Given the description of an element on the screen output the (x, y) to click on. 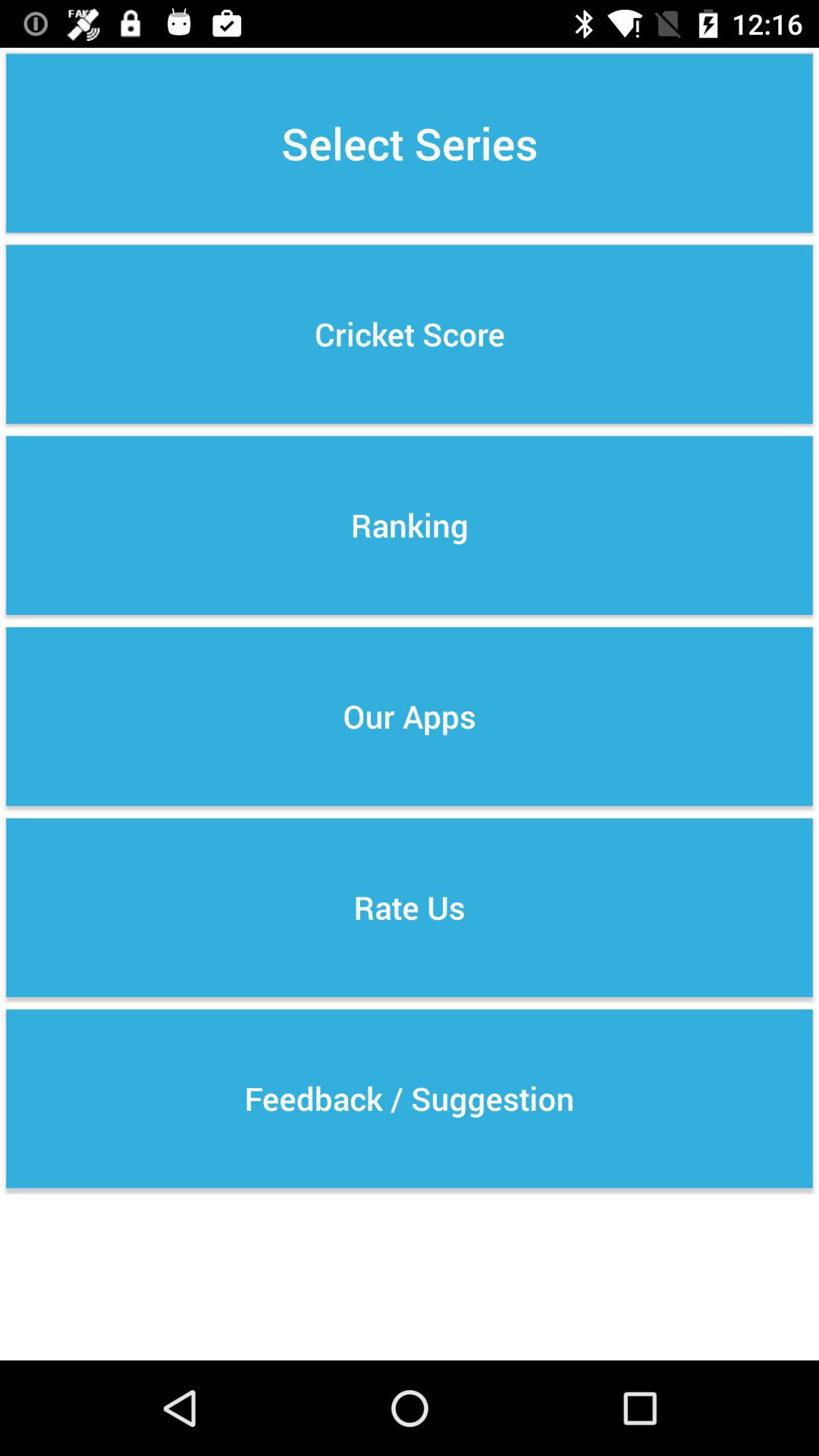
choose icon below the rate us (409, 1098)
